Given the description of an element on the screen output the (x, y) to click on. 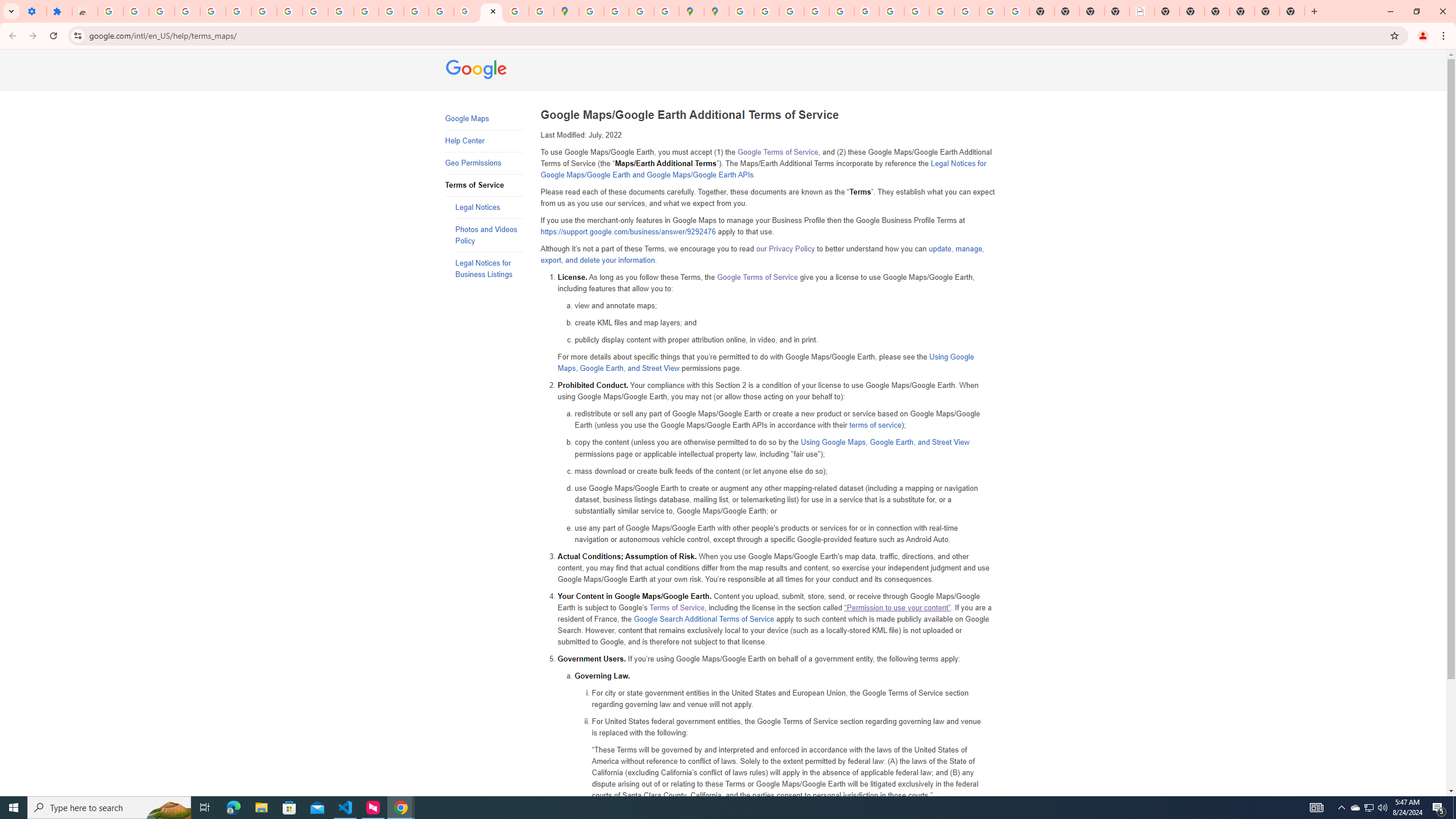
Safety in Our Products - Google Safety Center (666, 11)
New Tab (1241, 11)
Google (477, 70)
